Given the description of an element on the screen output the (x, y) to click on. 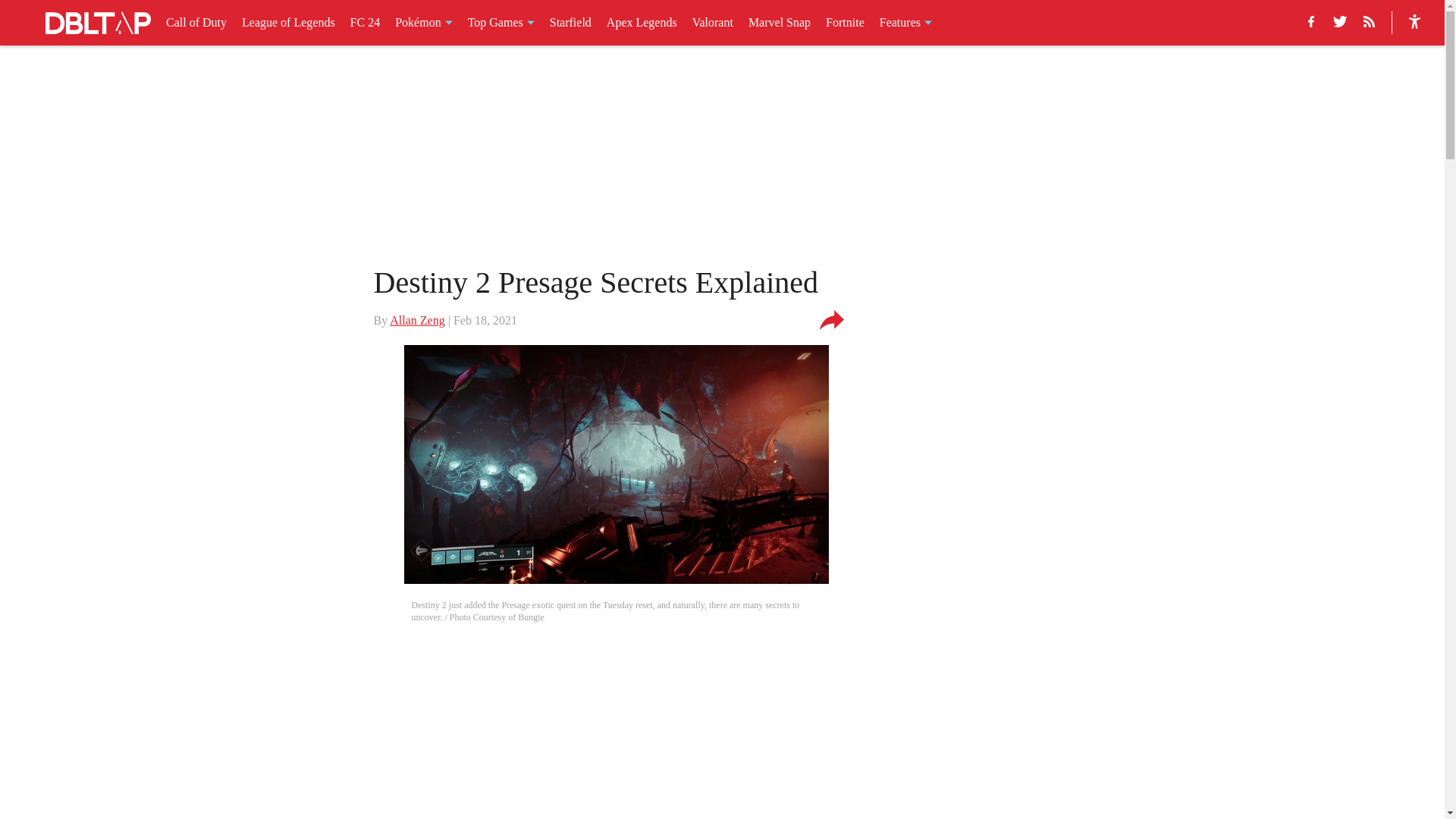
Call of Duty (196, 22)
League of Legends (287, 22)
Top Games (500, 22)
Features (905, 22)
Valorant (713, 22)
Allan Zeng (417, 319)
Fortnite (844, 22)
Starfield (570, 22)
FC 24 (365, 22)
